Given the description of an element on the screen output the (x, y) to click on. 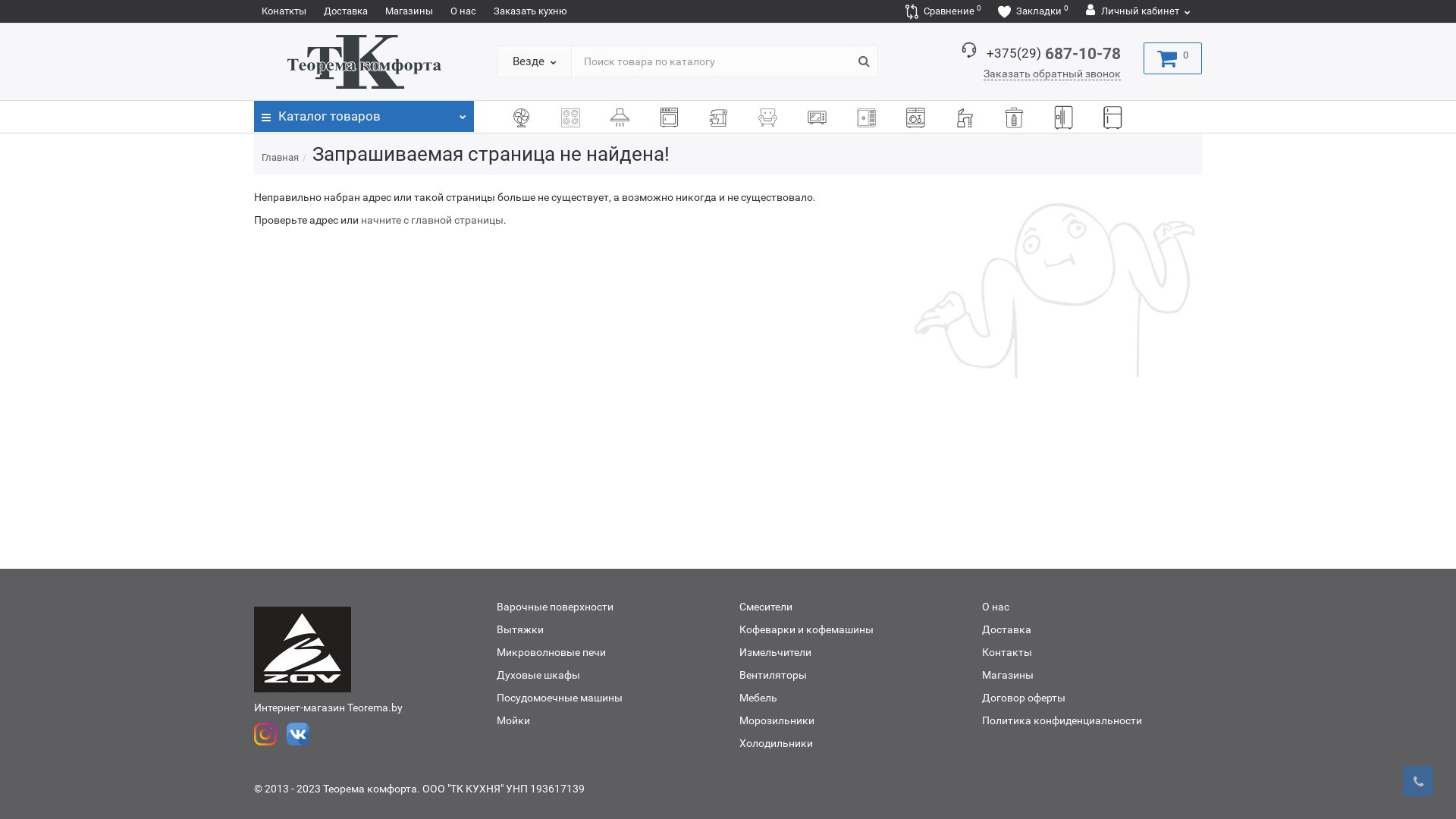
+375(29) 687-10-78 Element type: text (1053, 53)
0 Element type: text (1172, 58)
